Given the description of an element on the screen output the (x, y) to click on. 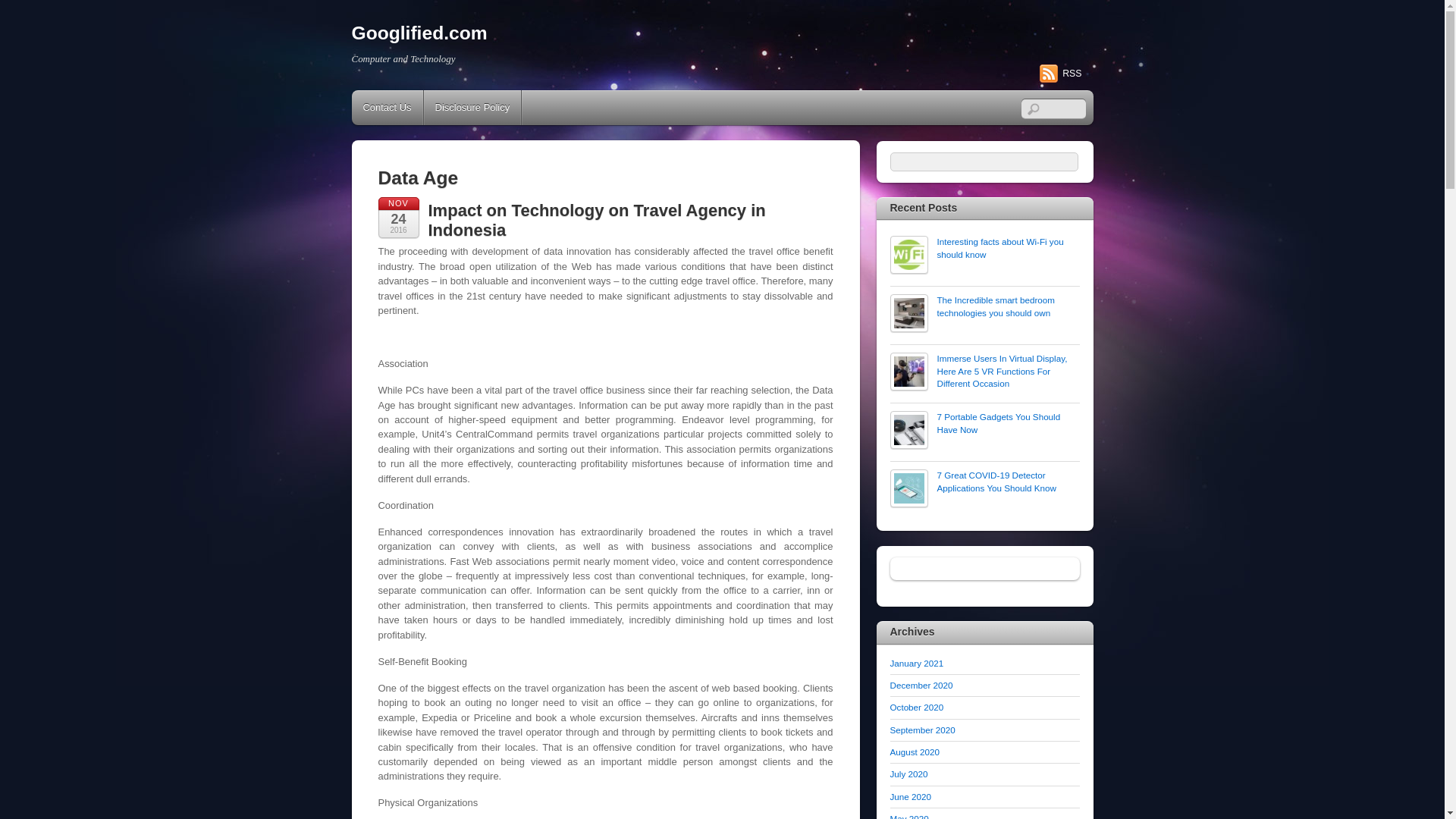
Search (1052, 108)
June 2020 (910, 796)
Impact on Technology on Travel Agency in Indonesia (596, 219)
Googlified.com (419, 32)
Search (983, 161)
July 2020 (908, 773)
Interesting facts about Wi-Fi you should know (984, 248)
January 2021 (916, 663)
October 2020 (916, 706)
RSS (1060, 73)
Disclosure Policy (472, 107)
Contact Us (387, 107)
The Incredible smart bedroom technologies you should own (984, 306)
December 2020 (921, 685)
